Given the description of an element on the screen output the (x, y) to click on. 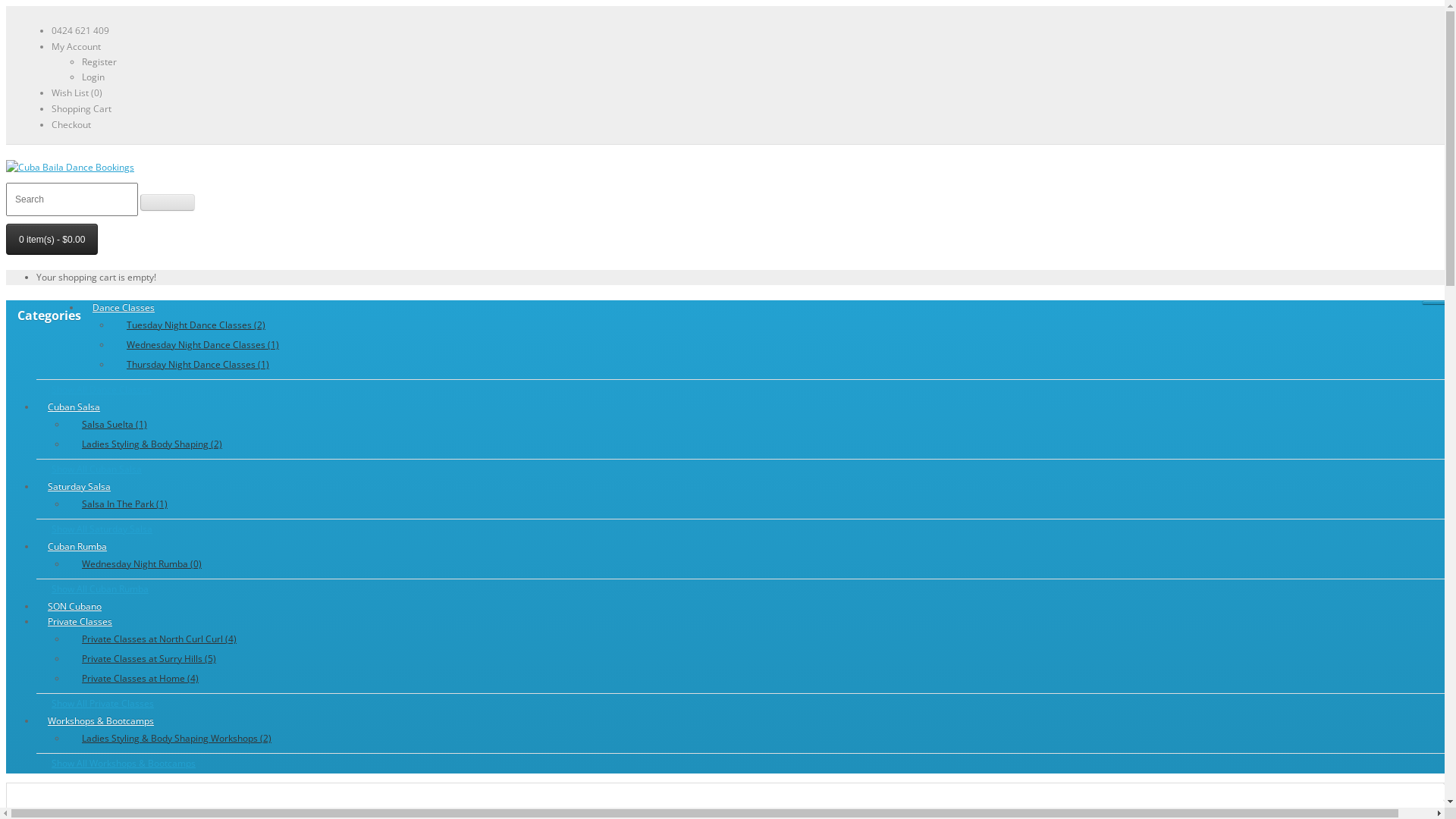
Wednesday Night Rumba (0) Element type: text (142, 564)
Wish List (0) Element type: text (76, 92)
Private Classes at Home (4) Element type: text (158, 678)
Thursday Night Dance Classes (1) Element type: text (202, 364)
Show All Dance Classes Element type: text (743, 389)
Wednesday Night Dance Classes (1) Element type: text (202, 344)
SON Cubano Element type: text (74, 606)
Show All Private Classes Element type: text (743, 703)
Workshops & Bootcamps Element type: text (100, 720)
Ladies Styling & Body Shaping (2) Element type: text (151, 444)
Register Element type: text (98, 61)
Show All Workshops & Bootcamps Element type: text (743, 763)
Show All Saturday Salsa Element type: text (743, 528)
Ladies Styling & Body Shaping Workshops (2) Element type: text (176, 738)
Private Classes at Surry Hills (5) Element type: text (158, 658)
Show All Cuban Salsa Element type: text (743, 468)
Login Element type: text (92, 76)
Private Classes Element type: text (79, 621)
Show All Cuban Rumba Element type: text (743, 588)
Tuesday Night Dance Classes (2) Element type: text (202, 325)
Cuban Salsa Element type: text (73, 406)
Cuban Rumba Element type: text (77, 546)
Saturday Salsa Element type: text (79, 486)
0 item(s) - $0.00 Element type: text (51, 238)
Private Classes at North Curl Curl (4) Element type: text (158, 639)
Salsa Suelta (1) Element type: text (151, 424)
Dance Classes Element type: text (123, 307)
My Account Element type: text (75, 46)
Salsa In The Park (1) Element type: text (142, 504)
Checkout Element type: text (71, 124)
Shopping Cart Element type: text (81, 108)
Cuba Baila Dance Bookings Element type: hover (70, 167)
